Given the description of an element on the screen output the (x, y) to click on. 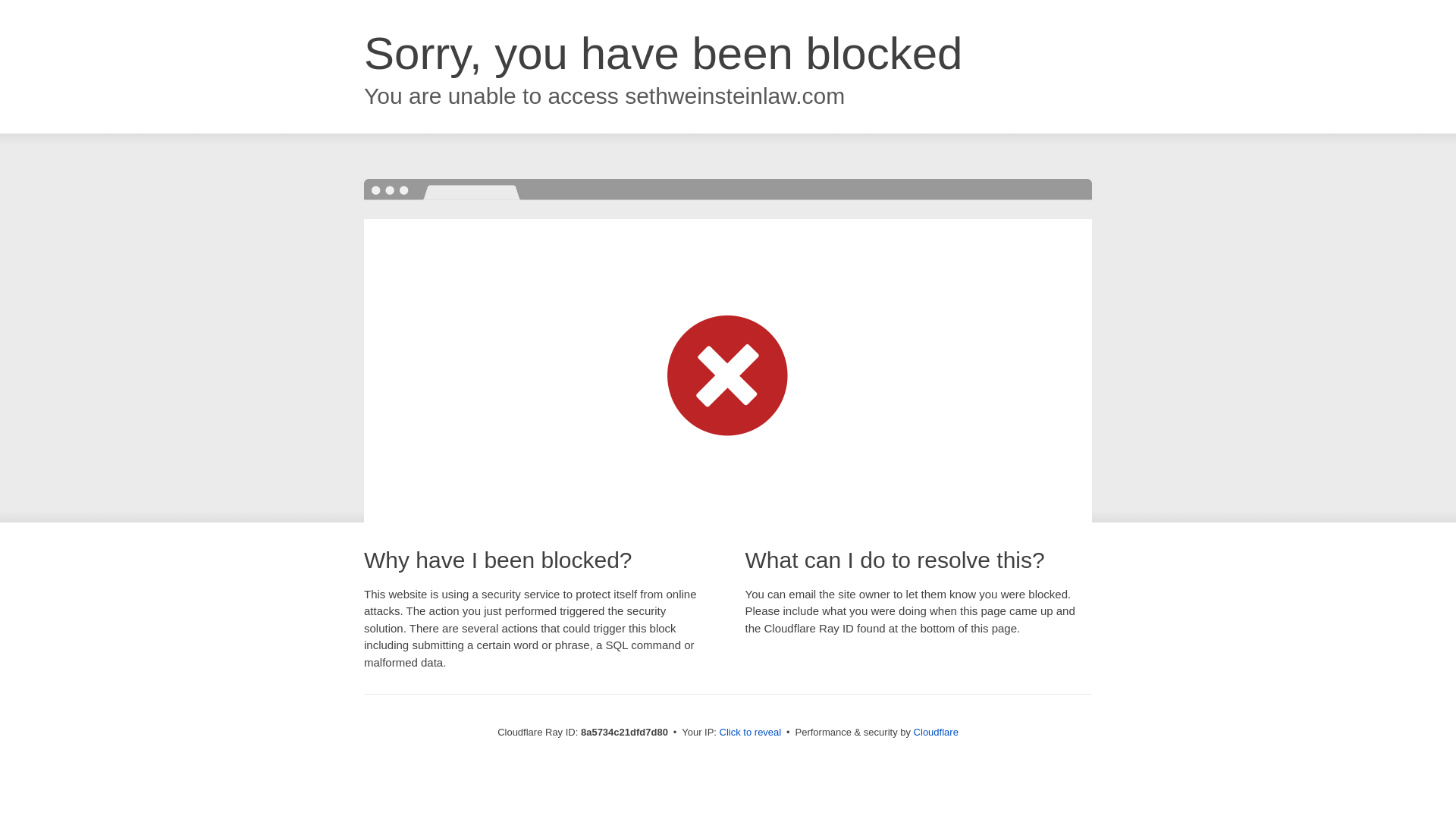
Cloudflare (936, 731)
Click to reveal (750, 732)
